Given the description of an element on the screen output the (x, y) to click on. 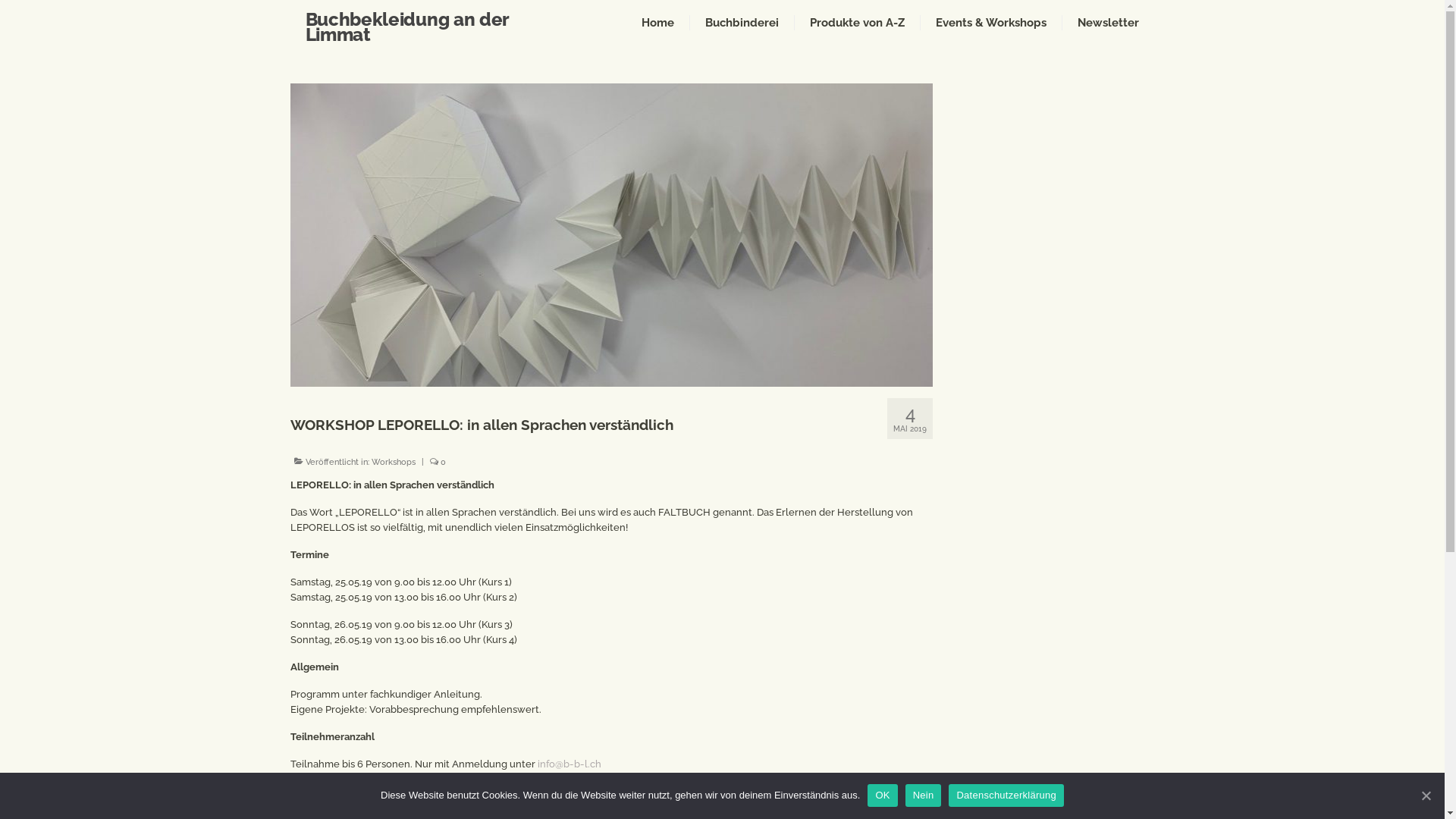
Events & Workshops Element type: text (990, 22)
info@b-b-l.ch Element type: text (568, 763)
Workshops Element type: text (393, 462)
Nein Element type: text (923, 795)
Home Element type: text (657, 22)
Buchbekleidung an der Limmat Element type: text (406, 26)
Buchbinderei Element type: text (741, 22)
Produkte von A-Z Element type: text (856, 22)
Newsletter Element type: text (1108, 22)
OK Element type: text (882, 795)
